Given the description of an element on the screen output the (x, y) to click on. 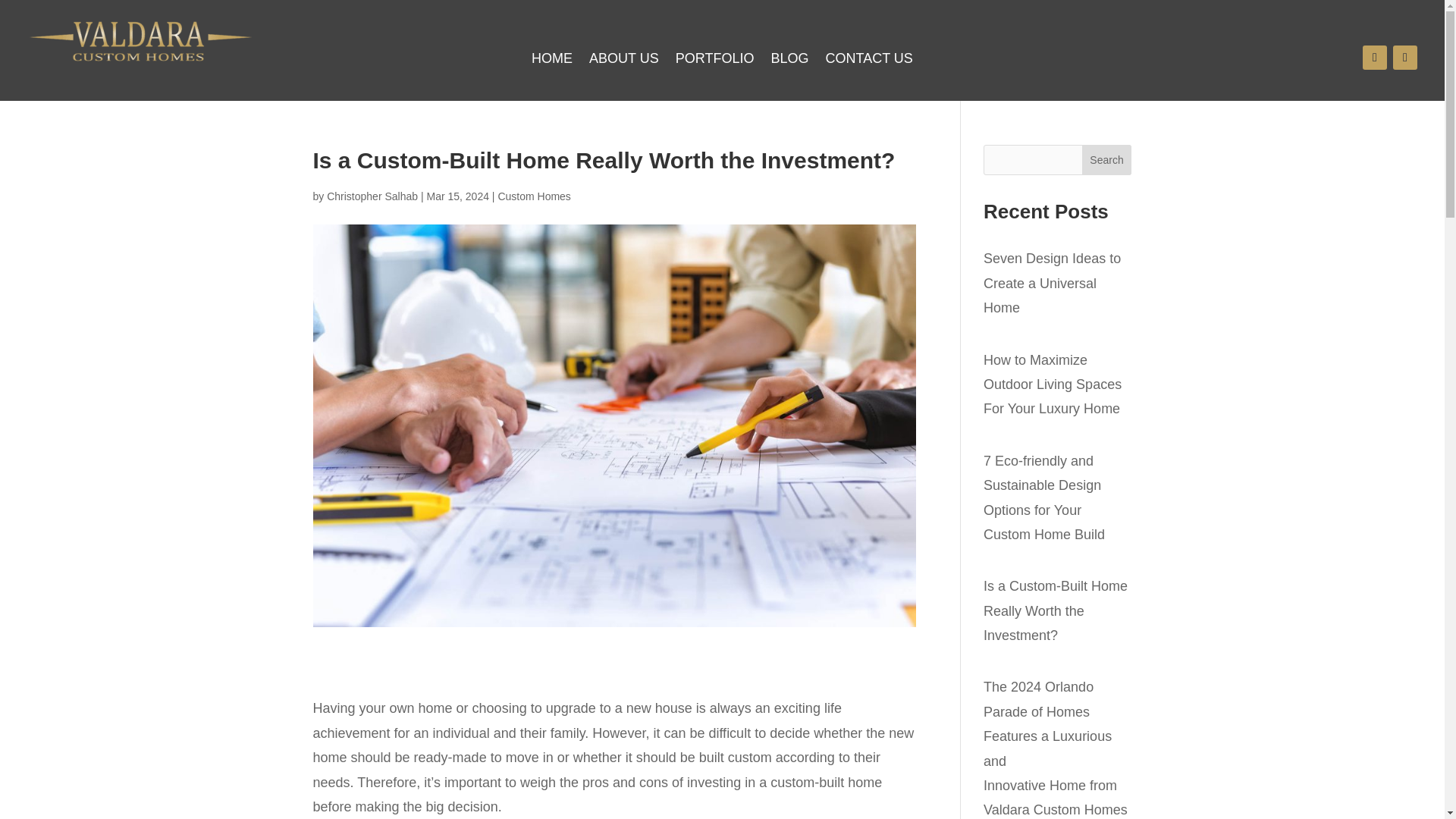
Follow on Instagram (1404, 57)
Christopher Salhab (371, 196)
Posts by Christopher Salhab (371, 196)
Valdara Custom Homes (140, 40)
BLOG (789, 61)
HOME (551, 61)
How to Maximize Outdoor Living Spaces For Your Luxury Home (1052, 384)
PORTFOLIO (714, 61)
Search (1106, 159)
Is a Custom-Built Home Really Worth the Investment? (1055, 610)
Follow on Facebook (1374, 57)
ABOUT US (624, 61)
CONTACT US (868, 61)
